Given the description of an element on the screen output the (x, y) to click on. 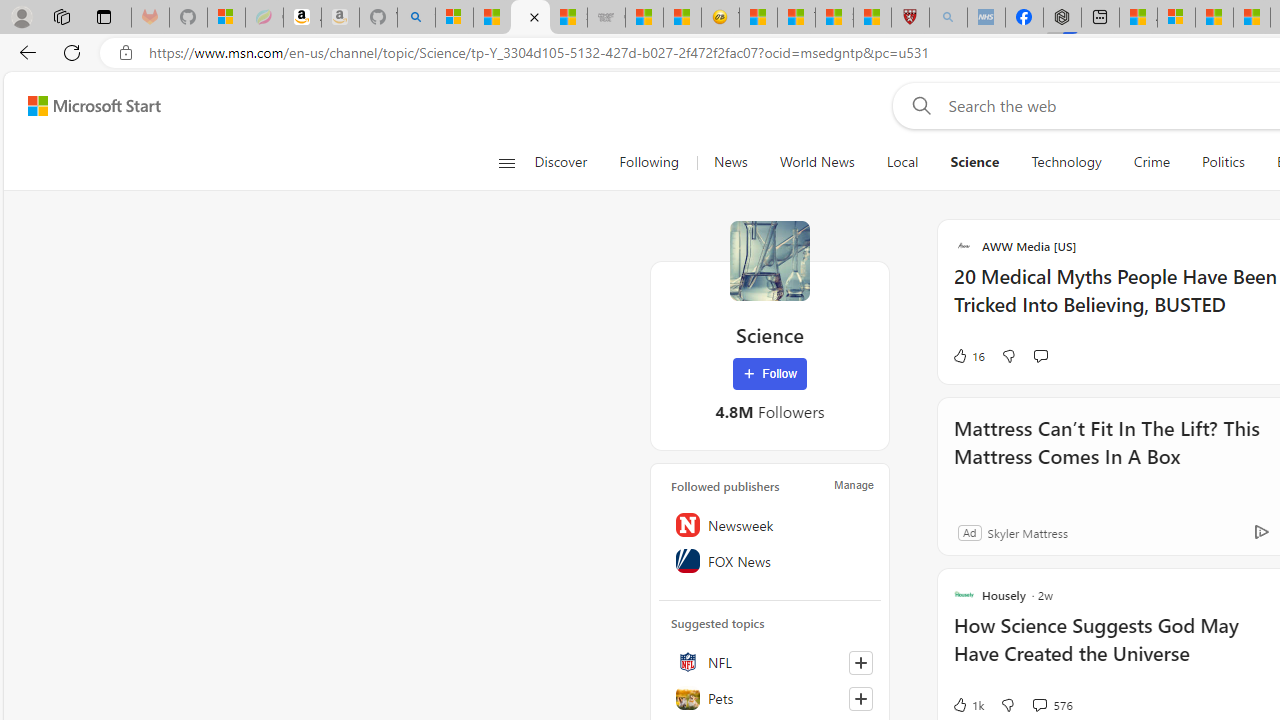
NFL (770, 661)
